Given the description of an element on the screen output the (x, y) to click on. 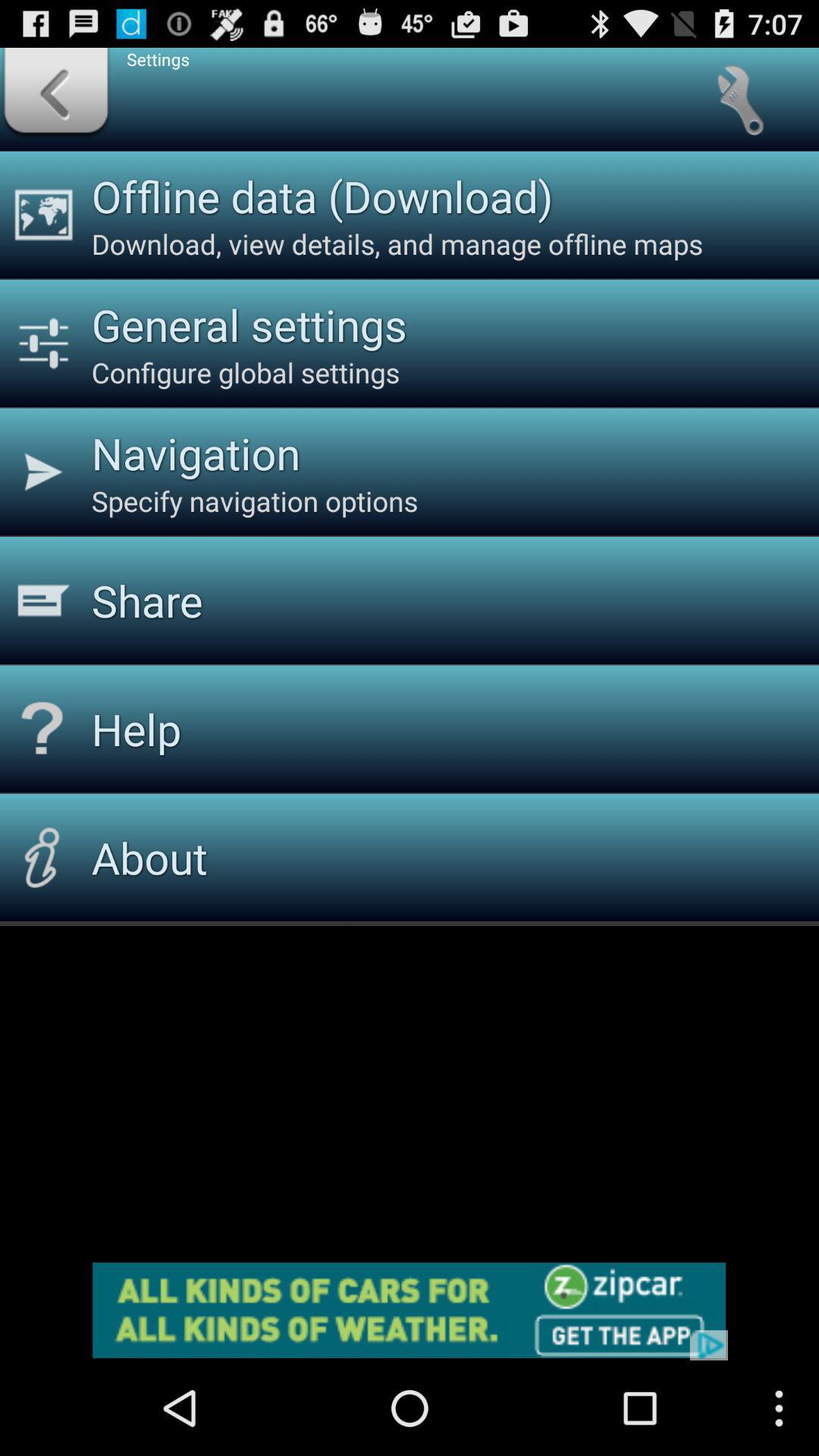
for advertisement (409, 1310)
